Given the description of an element on the screen output the (x, y) to click on. 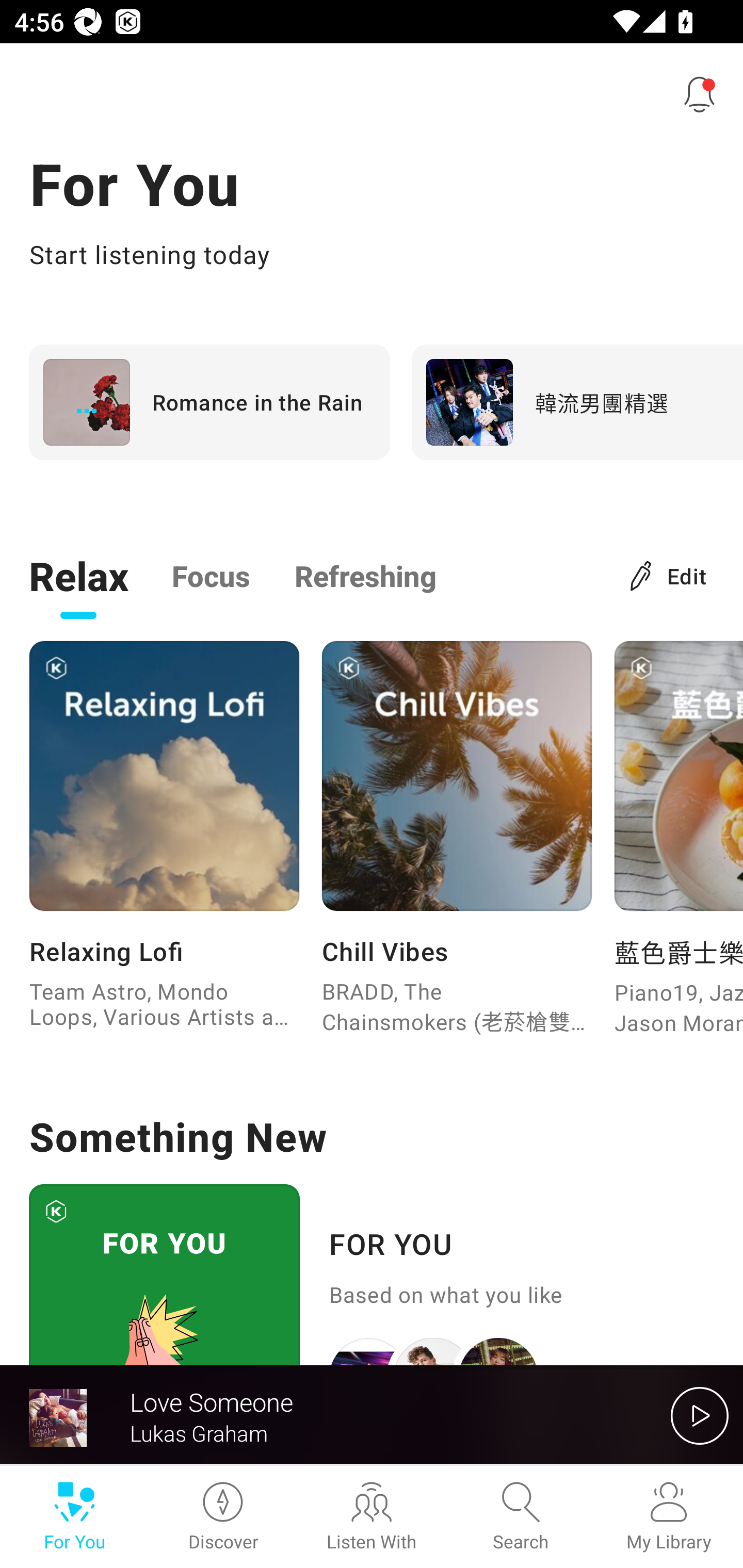
Notification (699, 93)
view_image Romance in the Rain (209, 401)
view_image 韓流男團精選 (577, 401)
Focus (211, 575)
Refreshing (365, 575)
Edit (668, 575)
開始播放 (699, 1415)
For You (74, 1517)
Discover (222, 1517)
Listen With (371, 1517)
Search (519, 1517)
My Library (668, 1517)
